Given the description of an element on the screen output the (x, y) to click on. 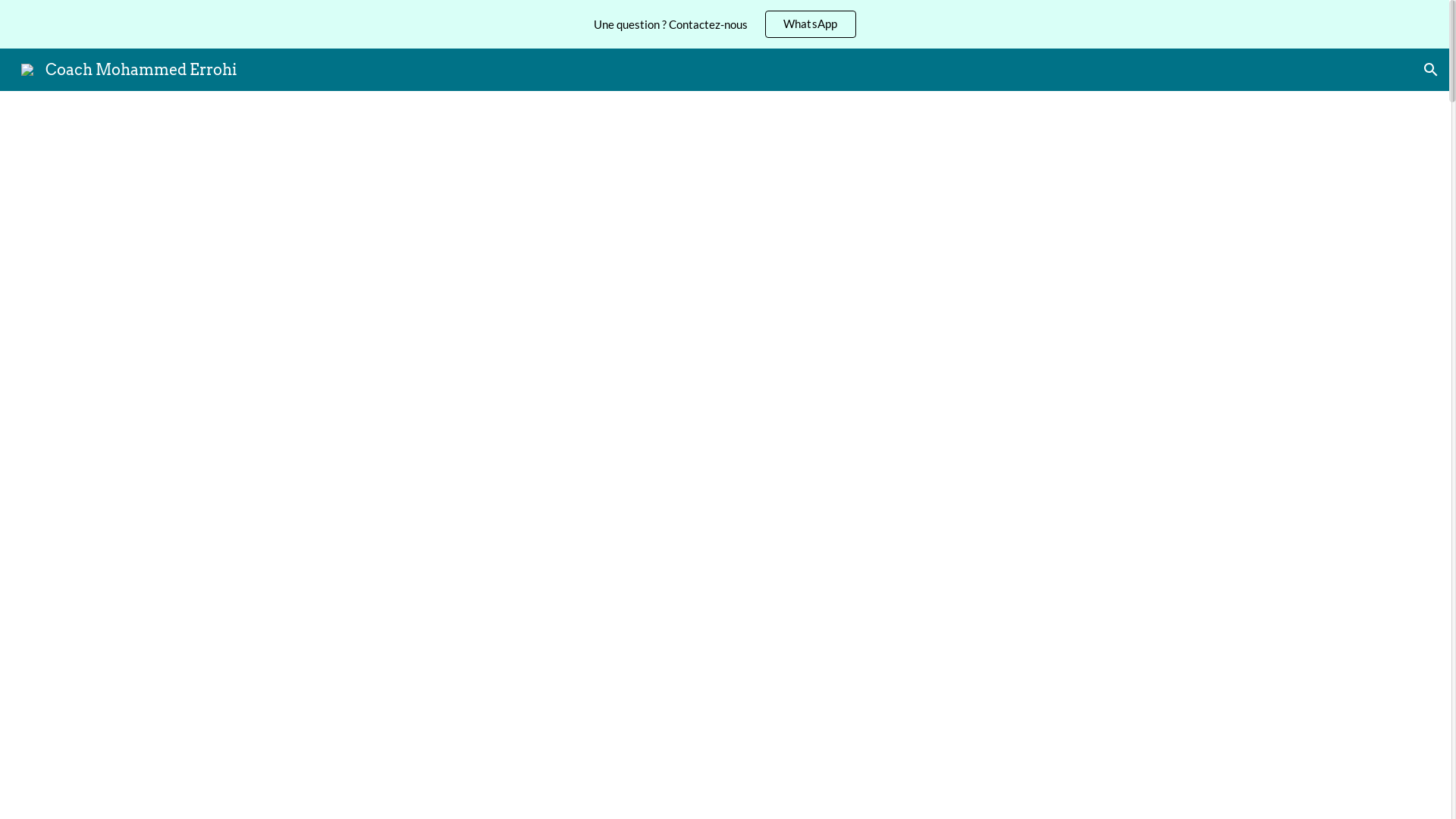
Coach Mohammed Errohi Element type: text (128, 68)
WhatsApp Element type: text (810, 24)
